Given the description of an element on the screen output the (x, y) to click on. 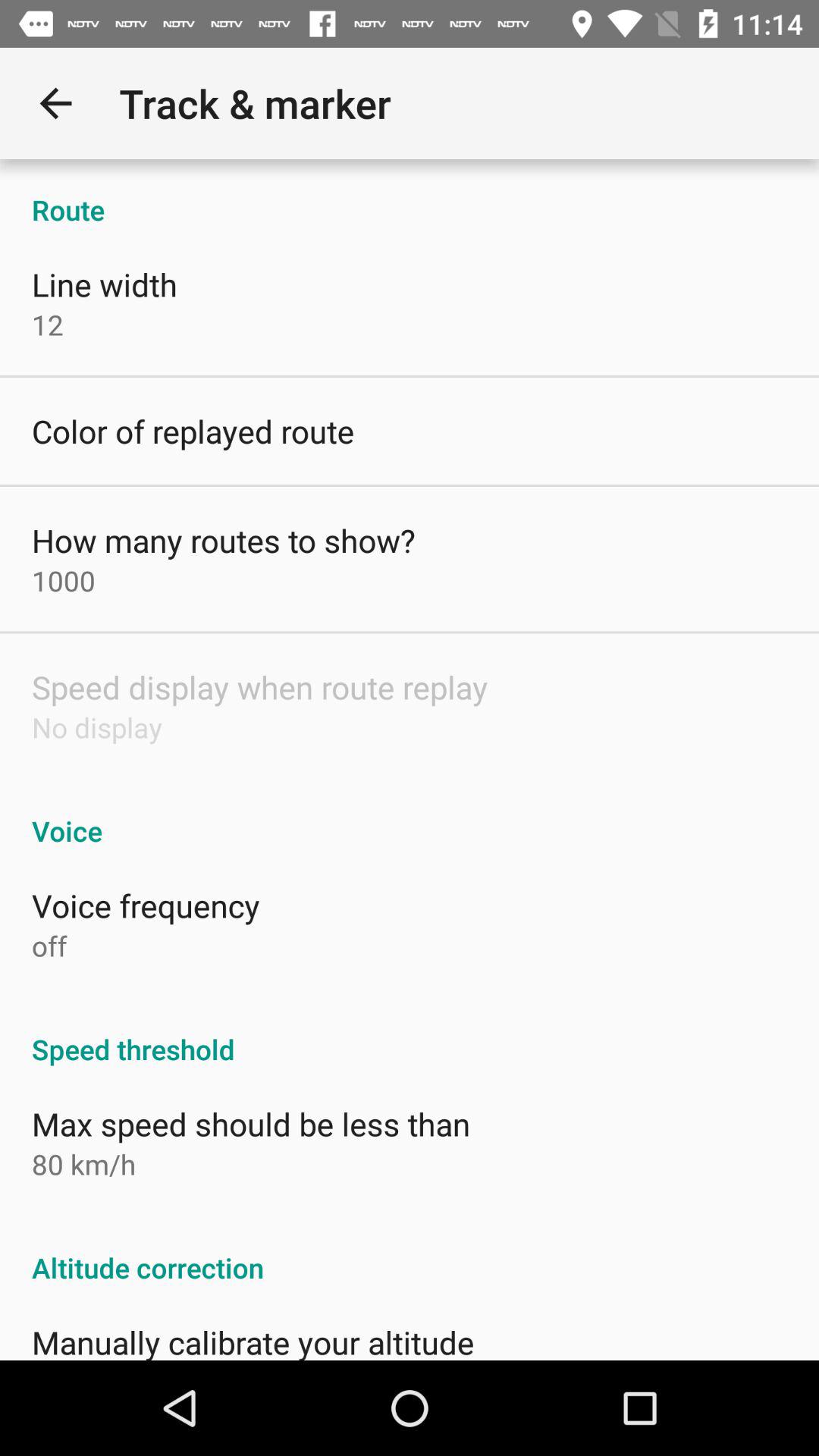
turn off off item (49, 945)
